Given the description of an element on the screen output the (x, y) to click on. 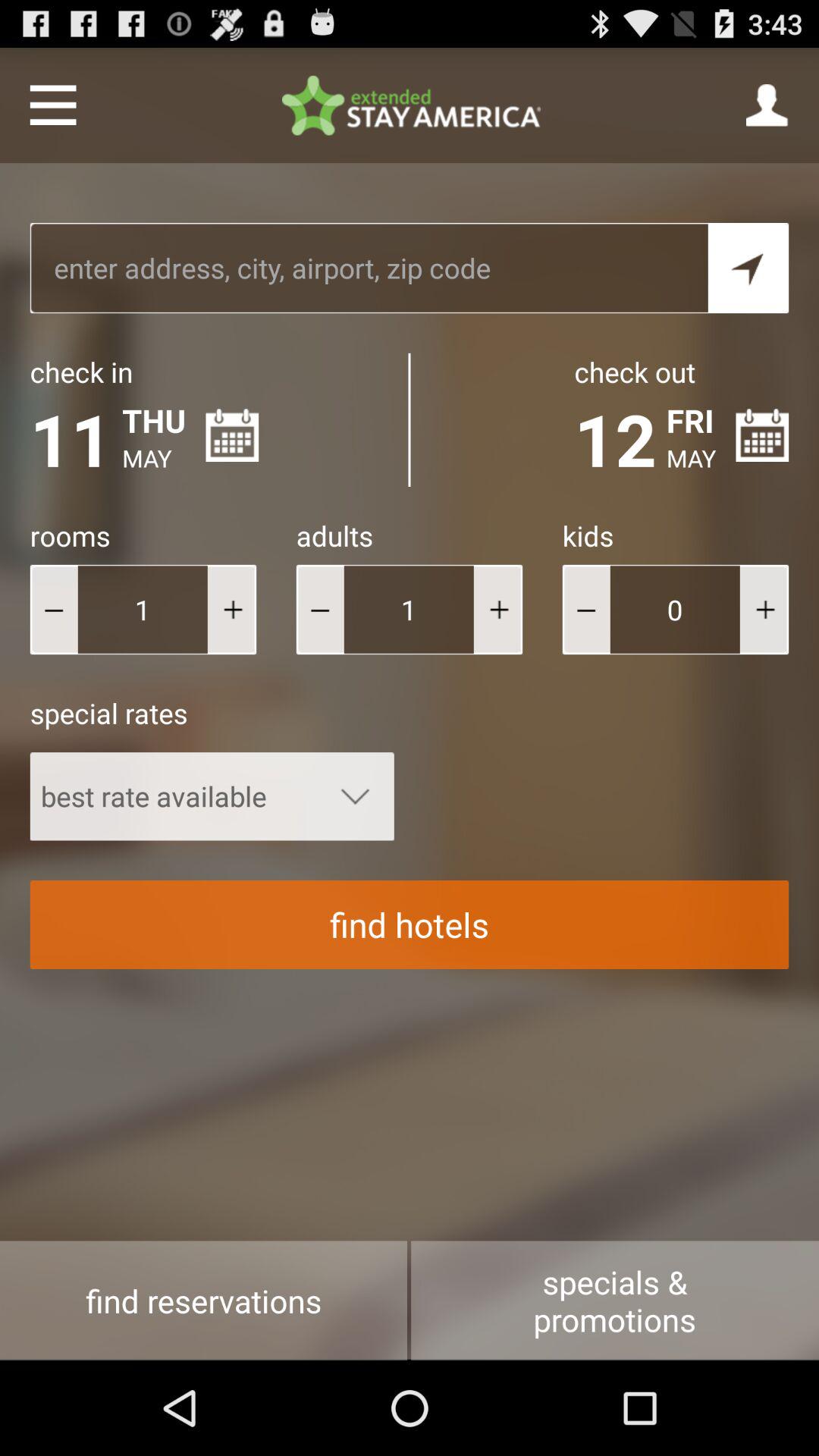
date selection option (761, 434)
